Given the description of an element on the screen output the (x, y) to click on. 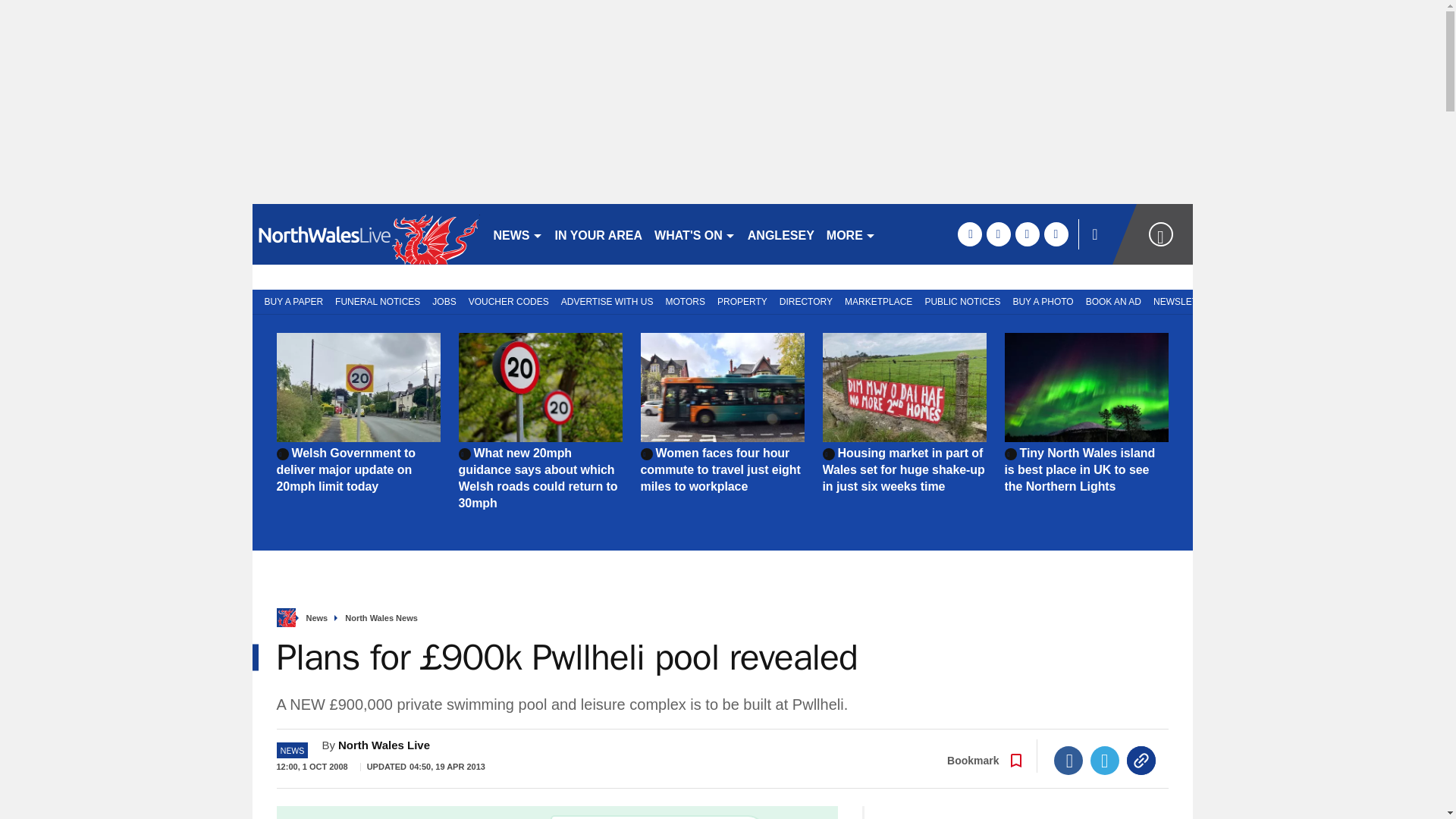
ANGLESEY (781, 233)
IN YOUR AREA (598, 233)
twitter (997, 233)
ADVERTISE WITH US (606, 300)
BUY A PAPER (290, 300)
FUNERAL NOTICES (377, 300)
facebook (968, 233)
northwales (365, 233)
instagram (1055, 233)
NEWS (517, 233)
MOTORS (685, 300)
JOBS (443, 300)
PROPERTY (742, 300)
Facebook (1068, 760)
WHAT'S ON (694, 233)
